Given the description of an element on the screen output the (x, y) to click on. 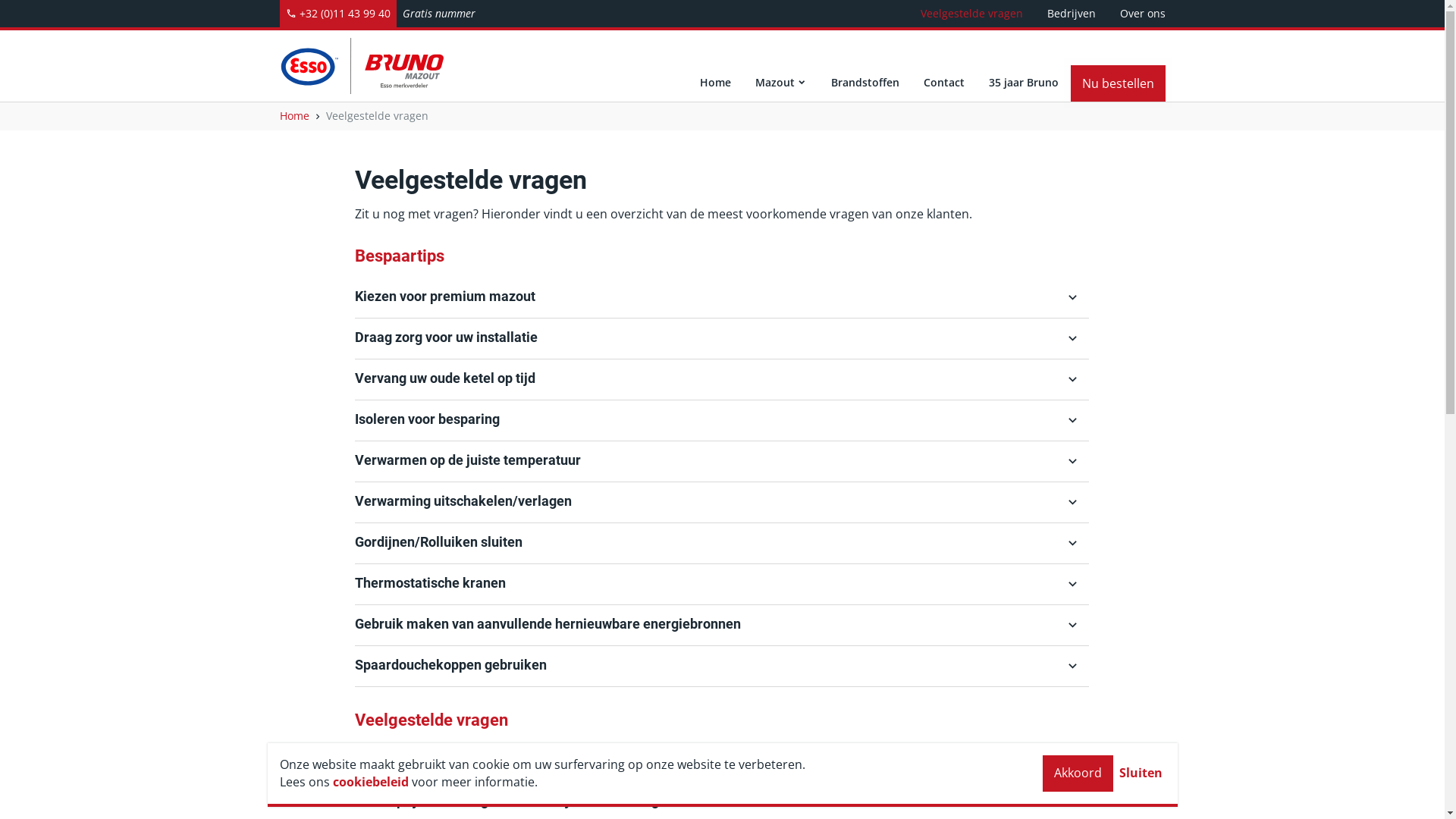
Gebruik maken van aanvullende hernieuwbare energiebronnen Element type: text (721, 625)
Veelgestelde vragen Element type: text (377, 115)
Verwarming uitschakelen/verlagen Element type: text (721, 502)
Sluiten Element type: text (1140, 773)
Brandstoffen Element type: text (865, 65)
Vervang uw oude ketel op tijd Element type: text (721, 379)
Wat is de minimale bestel hoeveelheid? Element type: text (721, 760)
Spaardouchekoppen gebruiken Element type: text (721, 666)
Home Element type: text (714, 65)
Home Element type: text (293, 115)
Over ons Element type: text (1141, 13)
Contact Element type: text (943, 65)
Gordijnen/Rolluiken sluiten Element type: text (721, 543)
cookiebeleid Element type: text (369, 781)
35 jaar Bruno Element type: text (1023, 65)
Isoleren voor besparing Element type: text (721, 420)
Veelgestelde vragen Element type: text (971, 13)
Verwarmen op de juiste temperatuur Element type: text (721, 461)
Akkoord Element type: text (1076, 773)
Kiezen voor premium mazout Element type: text (721, 297)
Mazout Element type: text (781, 65)
Nu bestellen Element type: text (1117, 83)
Thermostatische kranen Element type: text (721, 584)
Bedrijven Element type: text (1070, 13)
Draag zorg voor uw installatie Element type: text (721, 338)
+32 (0)11 43 99 40 Element type: text (337, 13)
